Given the description of an element on the screen output the (x, y) to click on. 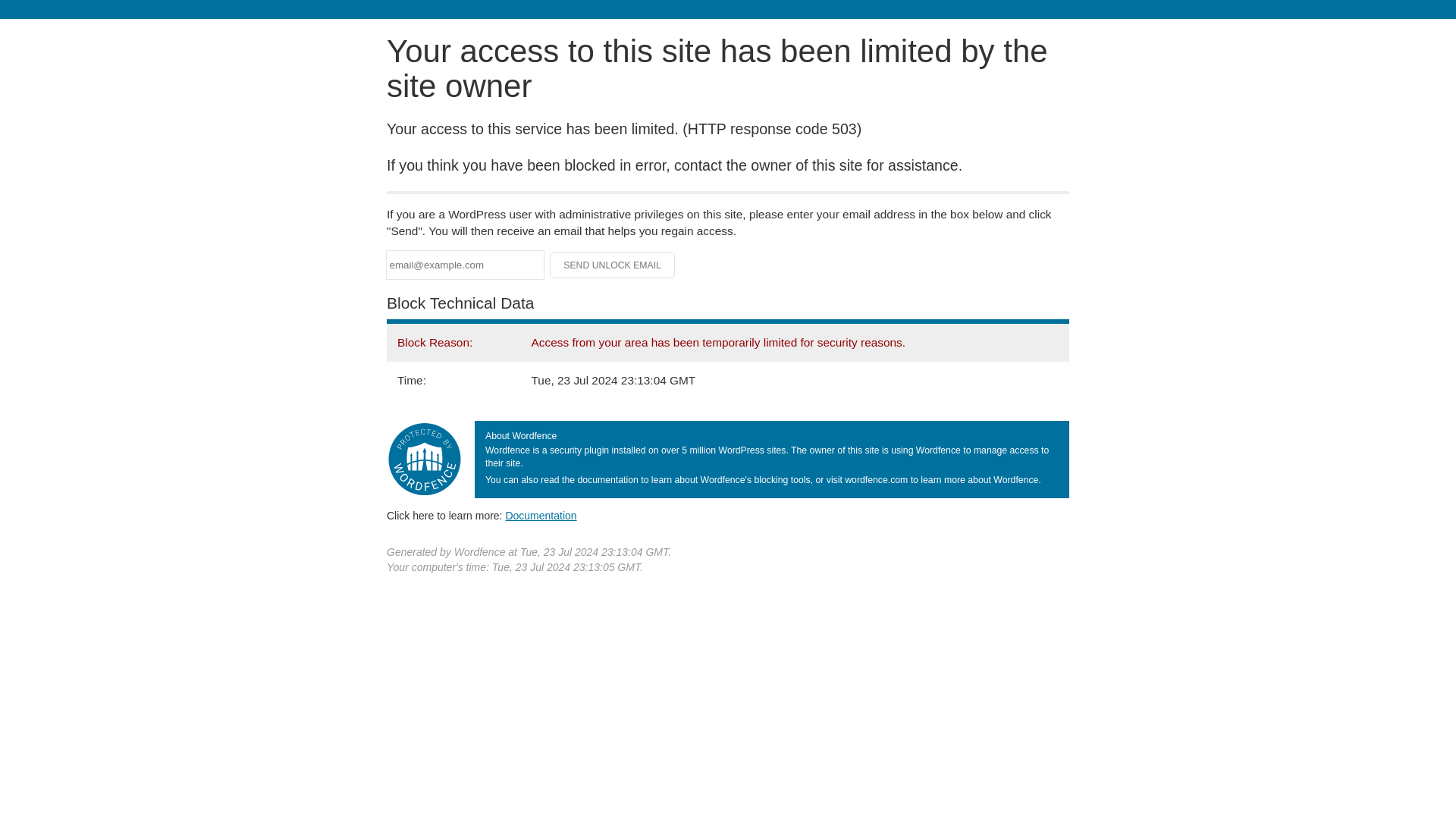
Documentation (540, 515)
Send Unlock Email (612, 265)
Send Unlock Email (612, 265)
